Given the description of an element on the screen output the (x, y) to click on. 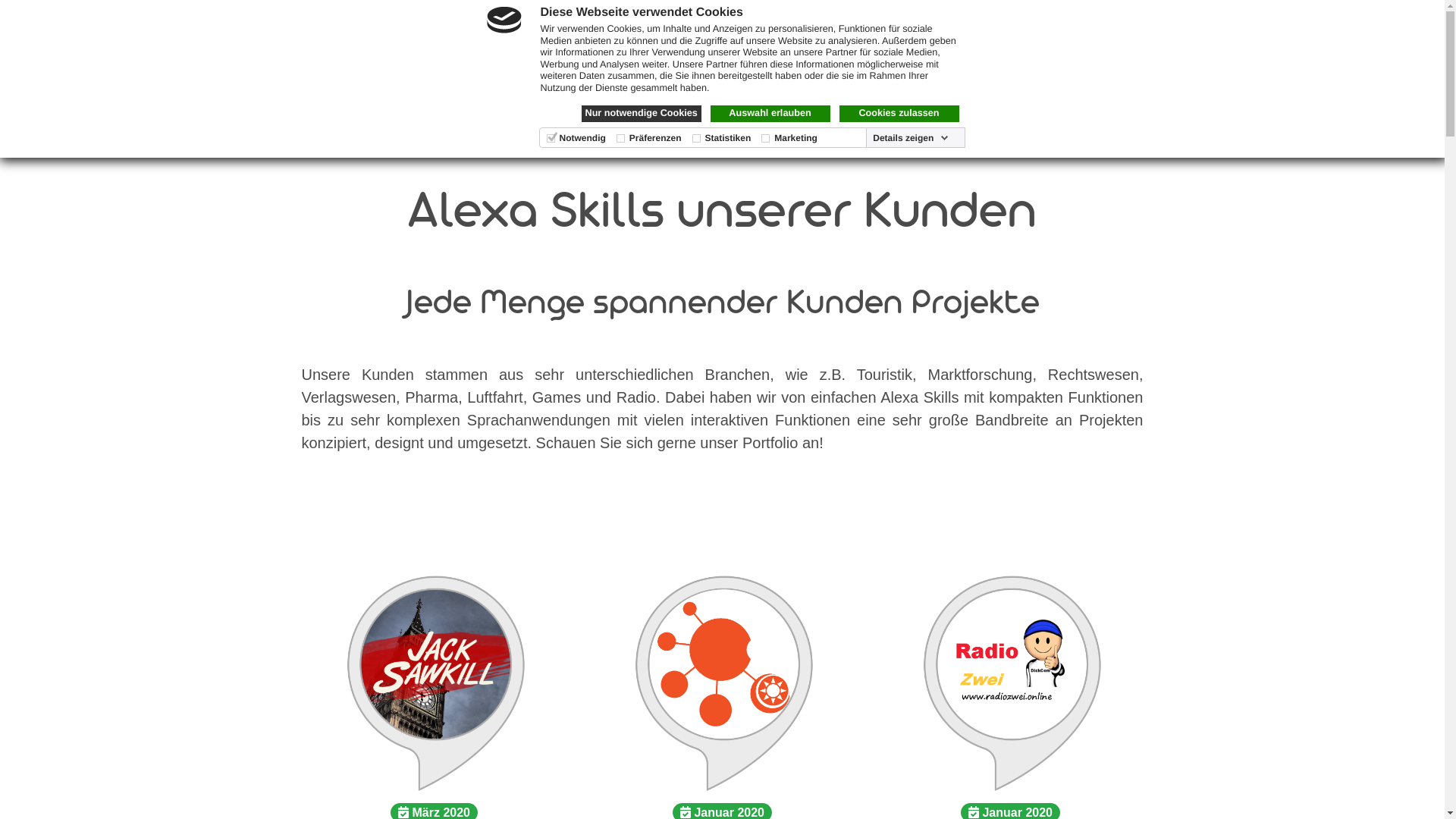
Alexa Skill Agentur Element type: text (1054, 30)
Services Element type: text (630, 84)
Alexa Skills Element type: text (731, 84)
Nur notwendige Cookies Element type: text (640, 113)
Home Element type: text (450, 84)
Internetagentur Element type: text (831, 30)
Kontakt Element type: text (917, 84)
Auswahl erlauben Element type: text (769, 113)
Cookies zulassen Element type: text (898, 113)
Details zeigen Element type: text (910, 137)
Kunden Element type: text (830, 84)
Jobs Element type: text (996, 84)
